Given the description of an element on the screen output the (x, y) to click on. 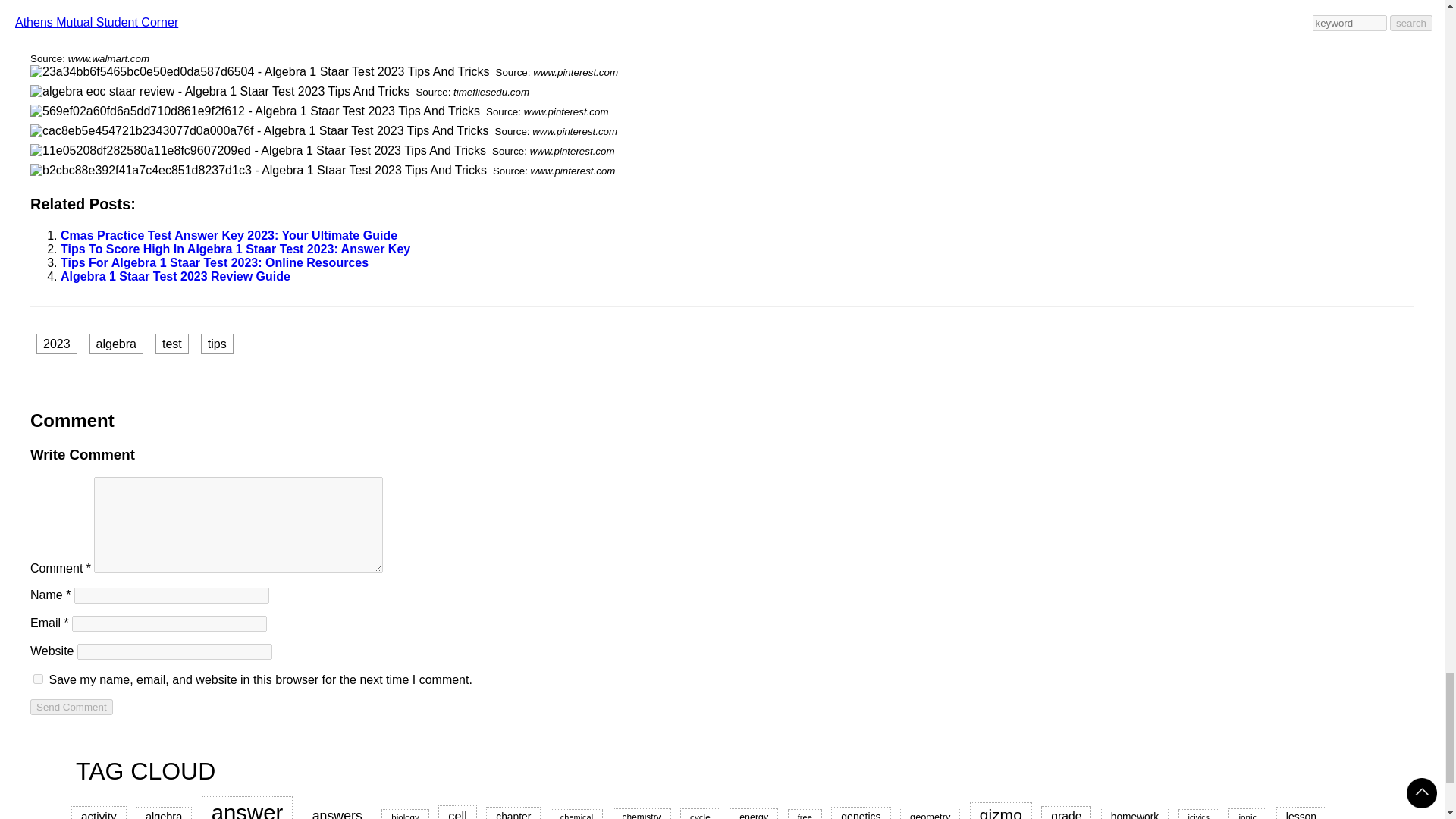
Algebra 1 Staar Test 2023 Review Guide (175, 276)
homework (1134, 813)
algebra (115, 343)
algebra (163, 812)
Tips To Score High In Algebra 1 Staar Test 2023: Answer Key (235, 248)
ionic (1247, 813)
test (172, 343)
Cmas Practice Test Answer Key 2023: Your Ultimate Guide (229, 235)
yes (38, 678)
chapter (513, 812)
